Given the description of an element on the screen output the (x, y) to click on. 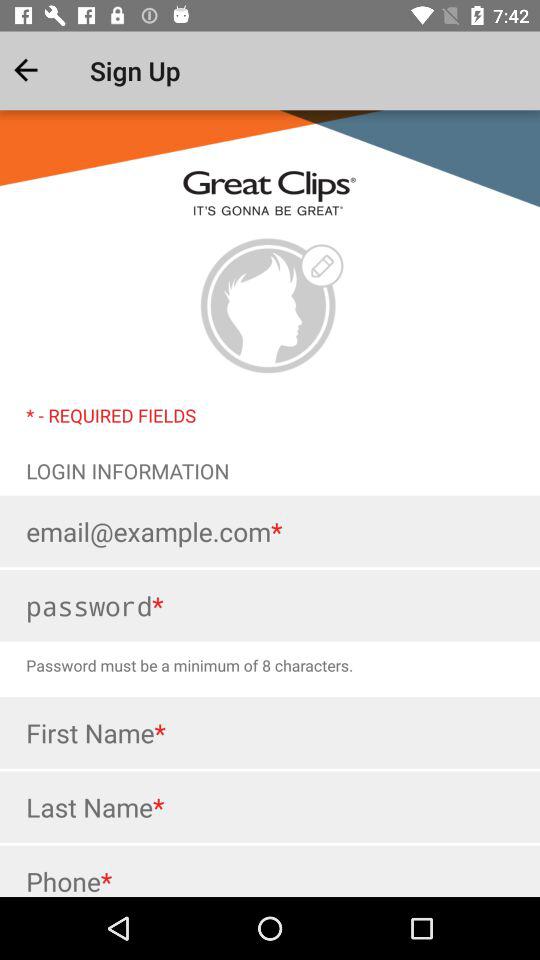
enter first name (269, 732)
